Given the description of an element on the screen output the (x, y) to click on. 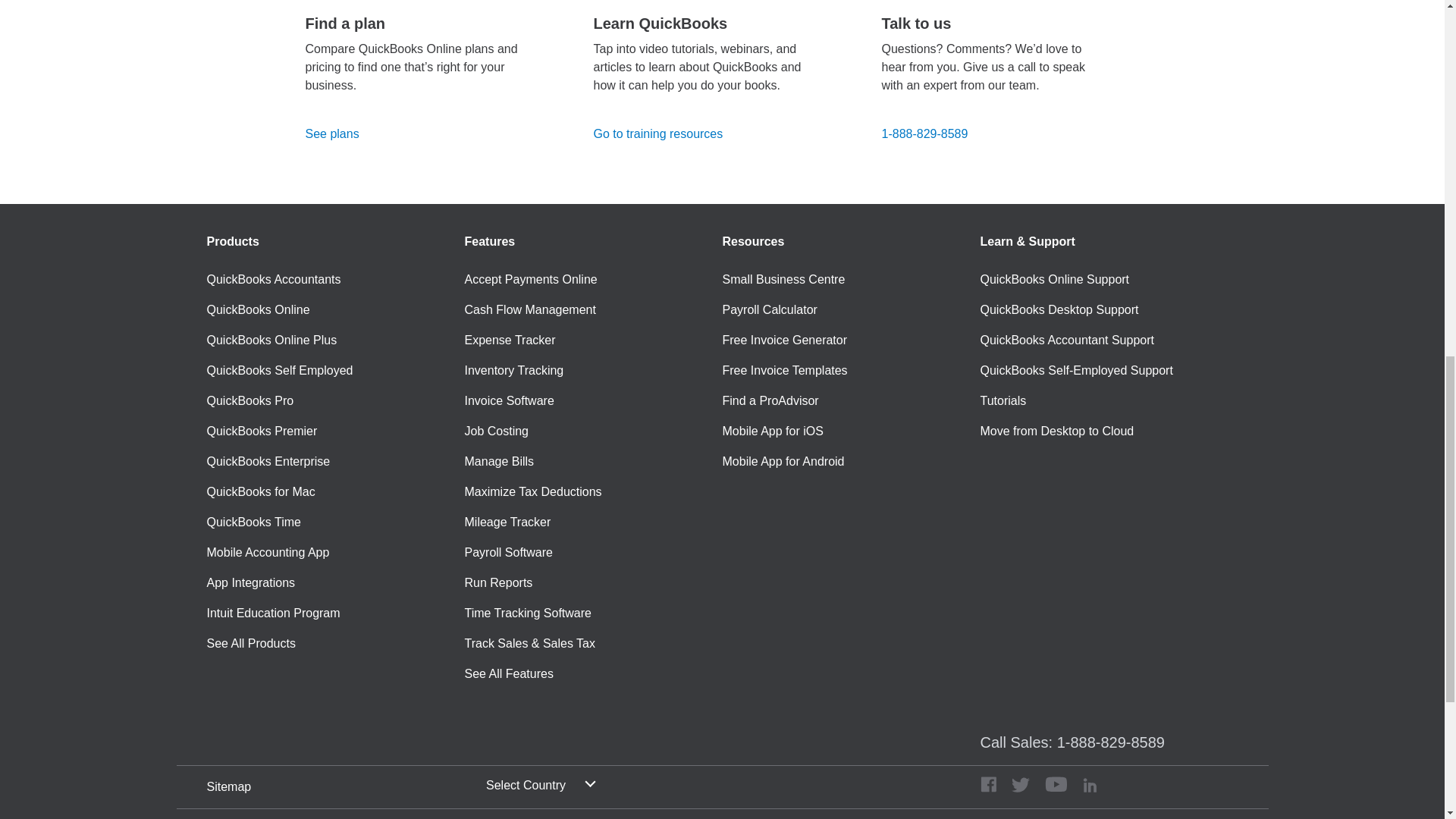
Accept Payments Online (530, 280)
Cash Flow Management (529, 310)
QuickBooks Premier (261, 431)
Expense Tracker (509, 340)
QuickBooks Online Plus (271, 340)
QuickBooks Online (257, 310)
QuickBooks Self Employed (279, 370)
Intuit Education Program (272, 613)
QuickBooks Pro (250, 401)
See All Products (250, 643)
